Given the description of an element on the screen output the (x, y) to click on. 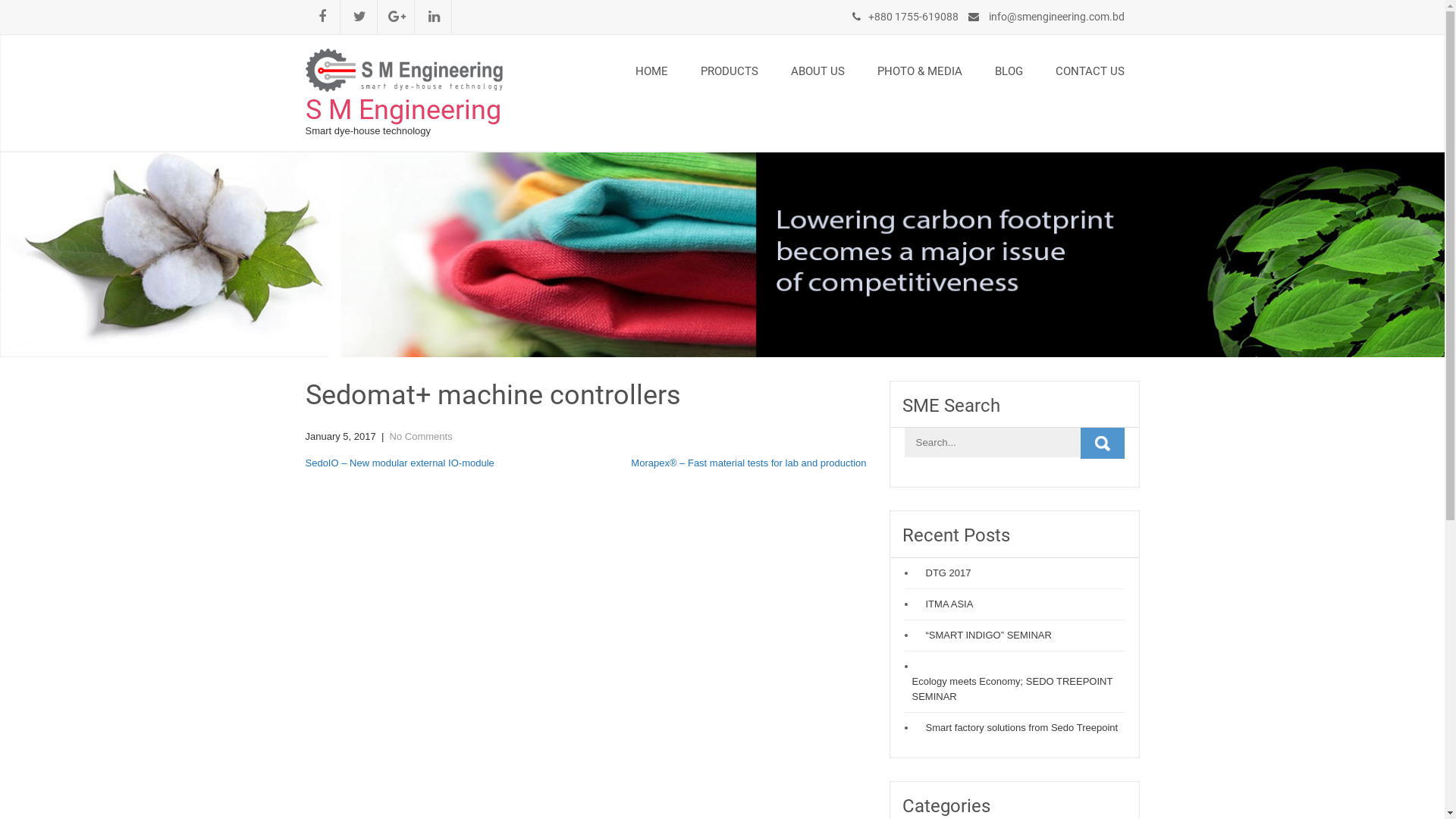
BLOG Element type: text (1008, 71)
Search Element type: text (1101, 442)
twitter Element type: hover (359, 17)
facebook Element type: hover (321, 17)
google-plus Element type: hover (396, 17)
DTG 2017 Element type: text (943, 572)
HOME Element type: text (651, 71)
ITMA ASIA Element type: text (944, 603)
Smart factory solutions from Sedo Treepoint Element type: text (1017, 727)
No Comments Element type: text (420, 436)
PRODUCTS Element type: text (729, 71)
linkedin Element type: hover (434, 17)
S M Engineering Element type: text (402, 109)
ABOUT US Element type: text (817, 71)
CONTACT US Element type: text (1089, 71)
Ecology meets Economy; SEDO TREEPOINT SEMINAR Element type: text (1013, 689)
PHOTO & MEDIA Element type: text (918, 71)
